Given the description of an element on the screen output the (x, y) to click on. 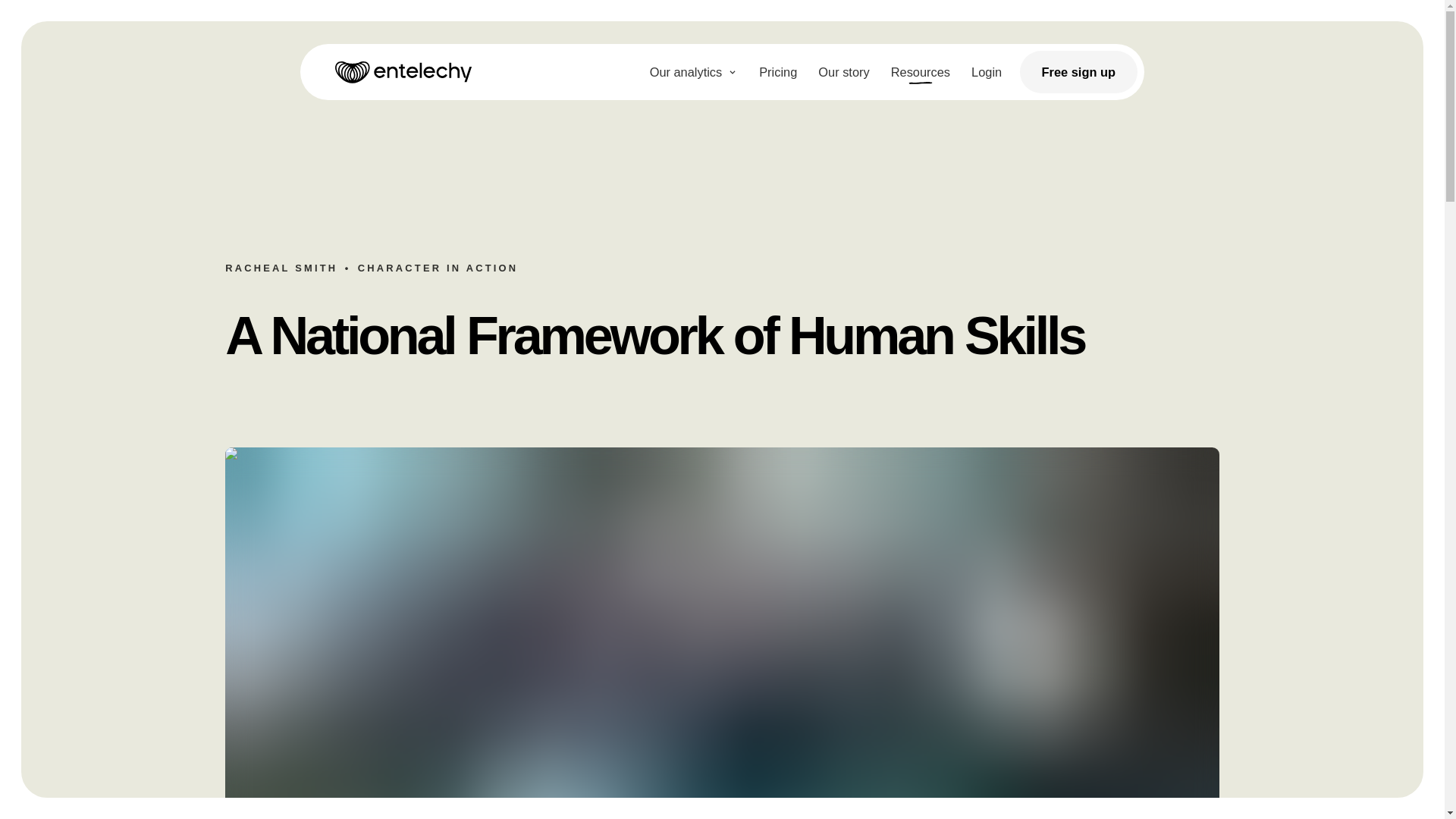
Pricing (778, 72)
CHARACTER IN ACTION (438, 267)
Free sign up (1079, 71)
Our story (843, 72)
RACHEAL SMITH (281, 267)
Login (985, 72)
Resources (920, 72)
Our analytics  (694, 72)
